Given the description of an element on the screen output the (x, y) to click on. 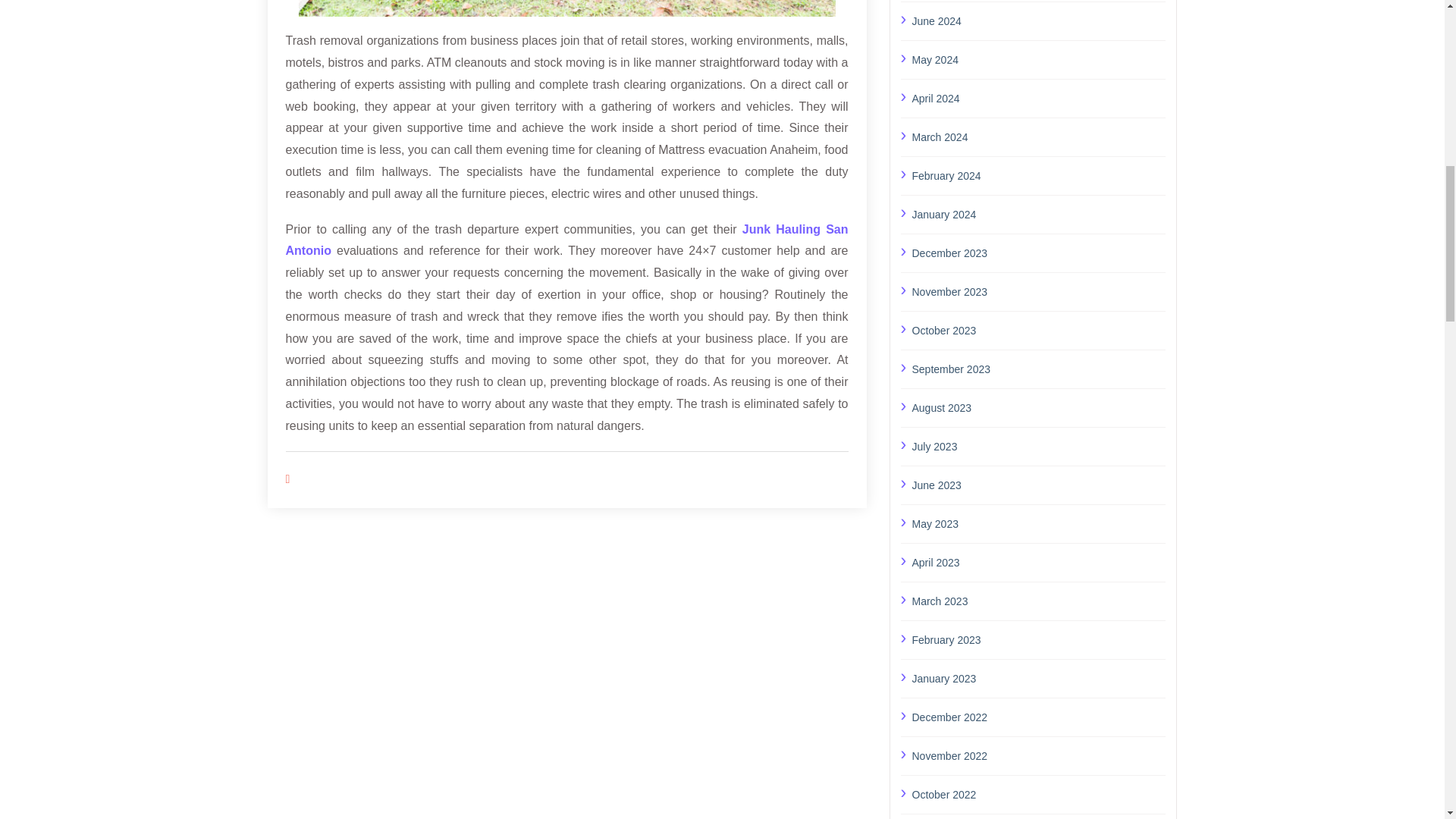
May 2024 (1038, 59)
March 2024 (1038, 137)
June 2024 (1038, 20)
February 2023 (1038, 639)
February 2024 (1038, 175)
June 2023 (1038, 484)
July 2023 (1038, 446)
December 2023 (1038, 252)
April 2023 (1038, 561)
November 2023 (1038, 291)
